Given the description of an element on the screen output the (x, y) to click on. 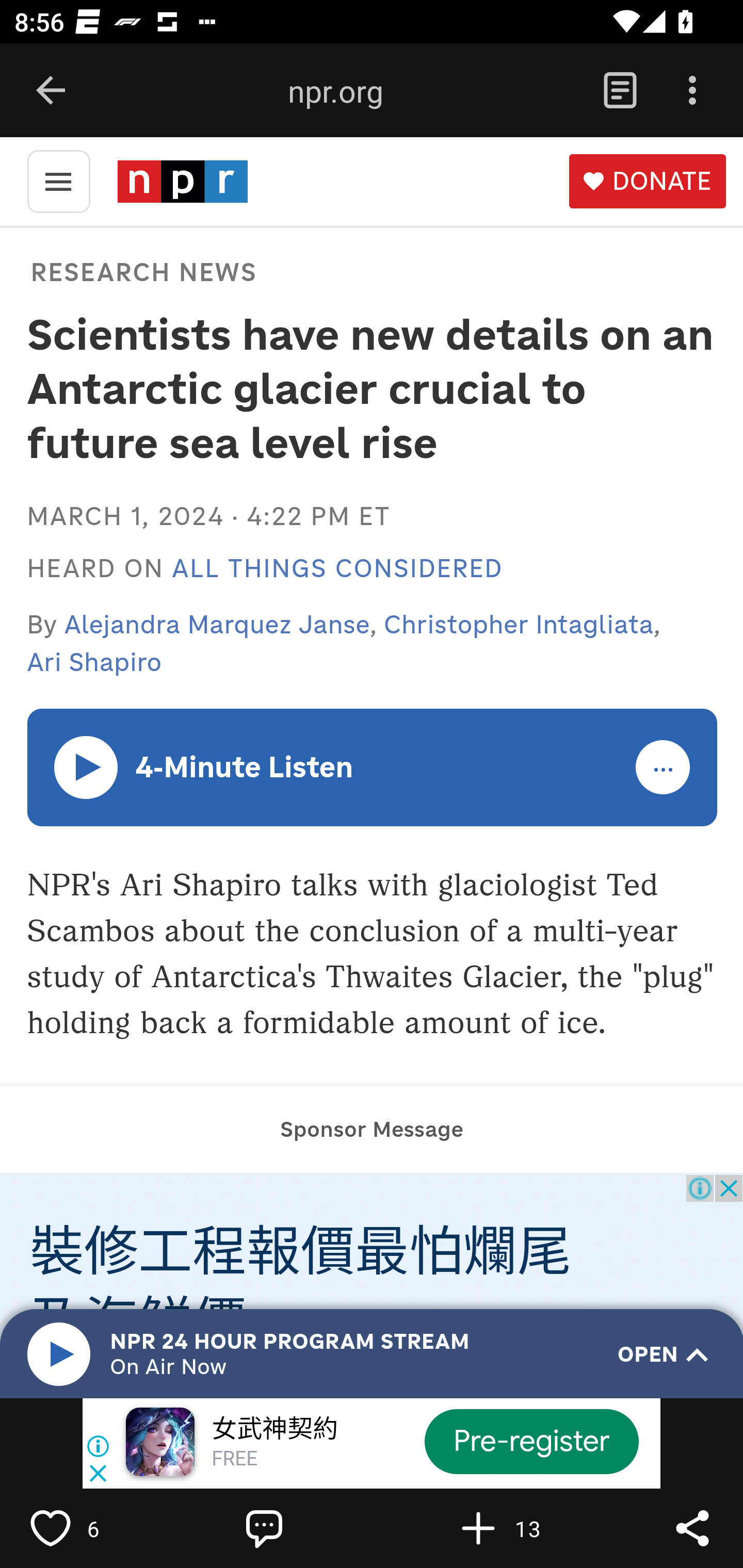
Back (50, 90)
Reader View (619, 90)
Options (692, 90)
Open Navigation Menu (58, 180)
DONATE (646, 181)
NPR logo (181, 180)
RESEARCH NEWS RESEARCH NEWS RESEARCH NEWS (141, 271)
MARCH 1, 2024 · 4:22 PM ET (208, 515)
ALL THINGS CONSIDERED (337, 568)
Alejandra Marquez Janse (217, 623)
Christopher Intagliata (518, 623)
Ari Shapiro (93, 662)
LISTEN· 4:24 (86, 766)
Toggle more options (663, 768)
Pre-register (530, 1441)
女武神契約 (274, 1429)
FREE (234, 1459)
Like 6 (93, 1528)
Write a comment… (307, 1528)
Flip into Magazine 13 (521, 1528)
Share (692, 1528)
